Given the description of an element on the screen output the (x, y) to click on. 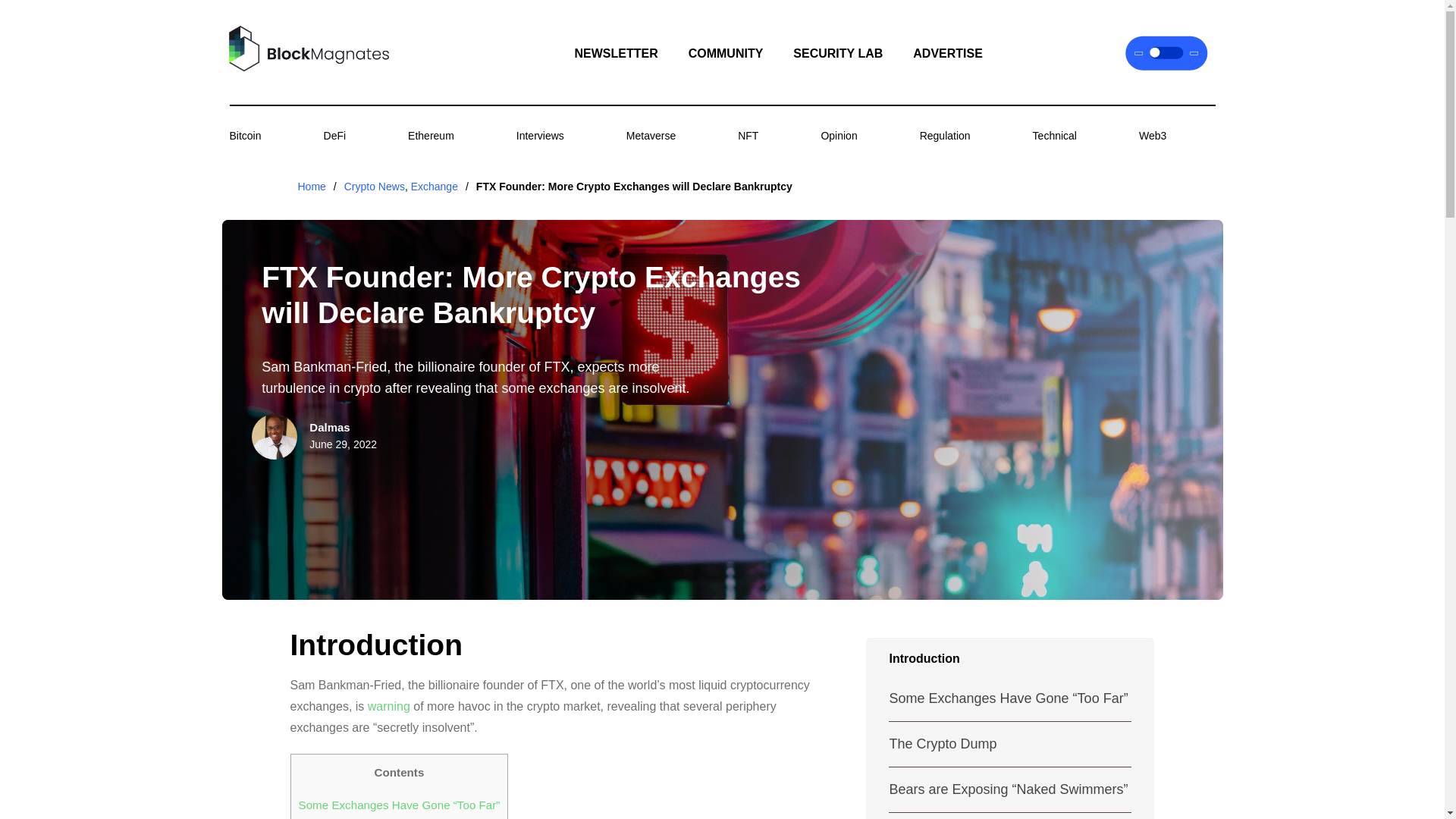
Regulation (945, 135)
Opinion (838, 135)
DeFi (334, 135)
NFT (747, 135)
NEWSLETTER (615, 53)
Technical (1054, 135)
Exchange (434, 186)
ADVERTISE (947, 53)
Bitcoin (244, 135)
COMMUNITY (725, 53)
